Given the description of an element on the screen output the (x, y) to click on. 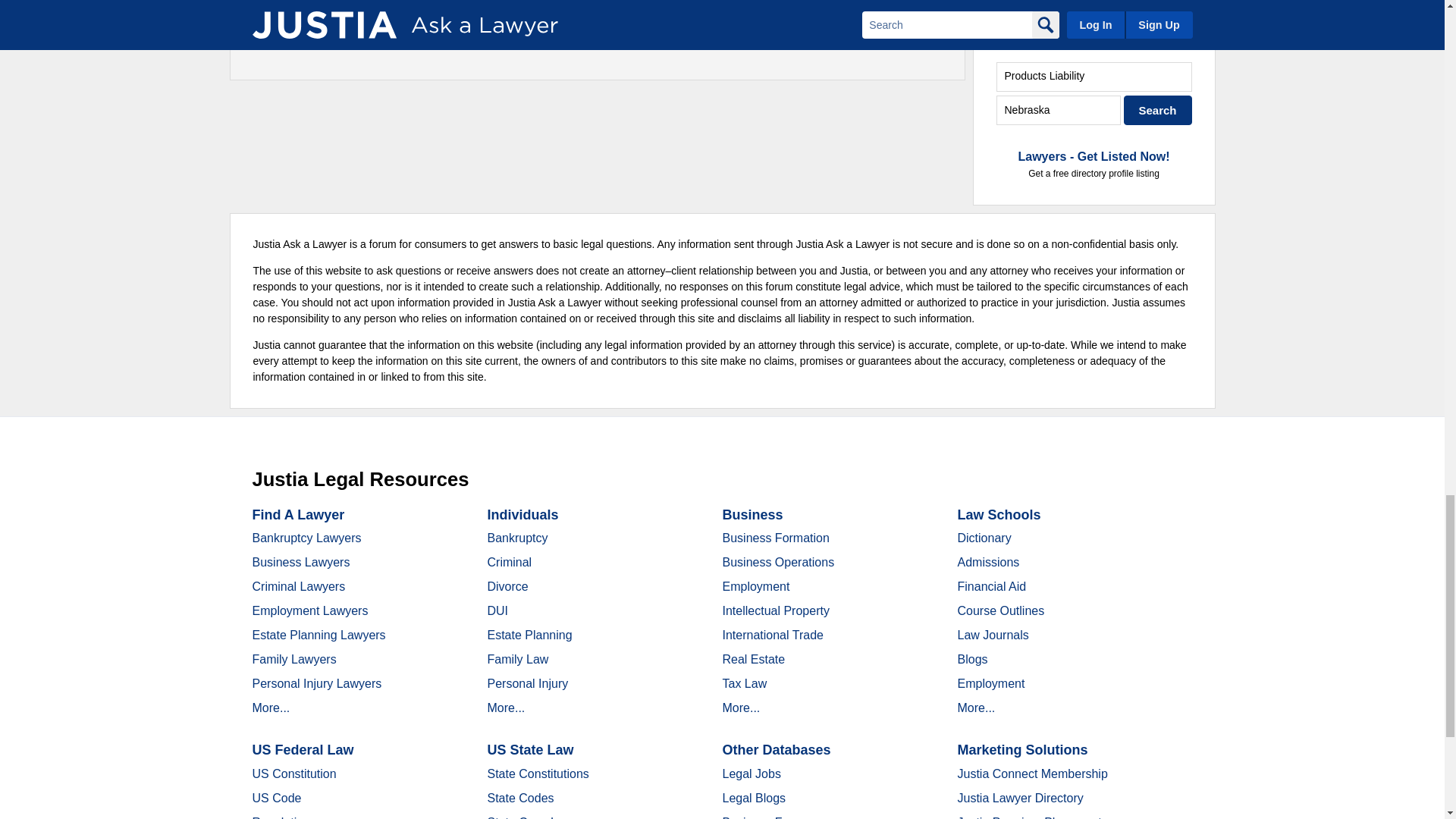
Nebraska (1058, 110)
Peter N. Munsing (313, 20)
Products Liability (1093, 76)
City, State (1058, 110)
Search (1158, 110)
Legal Issue or Lawyer Name (1093, 76)
Search (1158, 110)
